Given the description of an element on the screen output the (x, y) to click on. 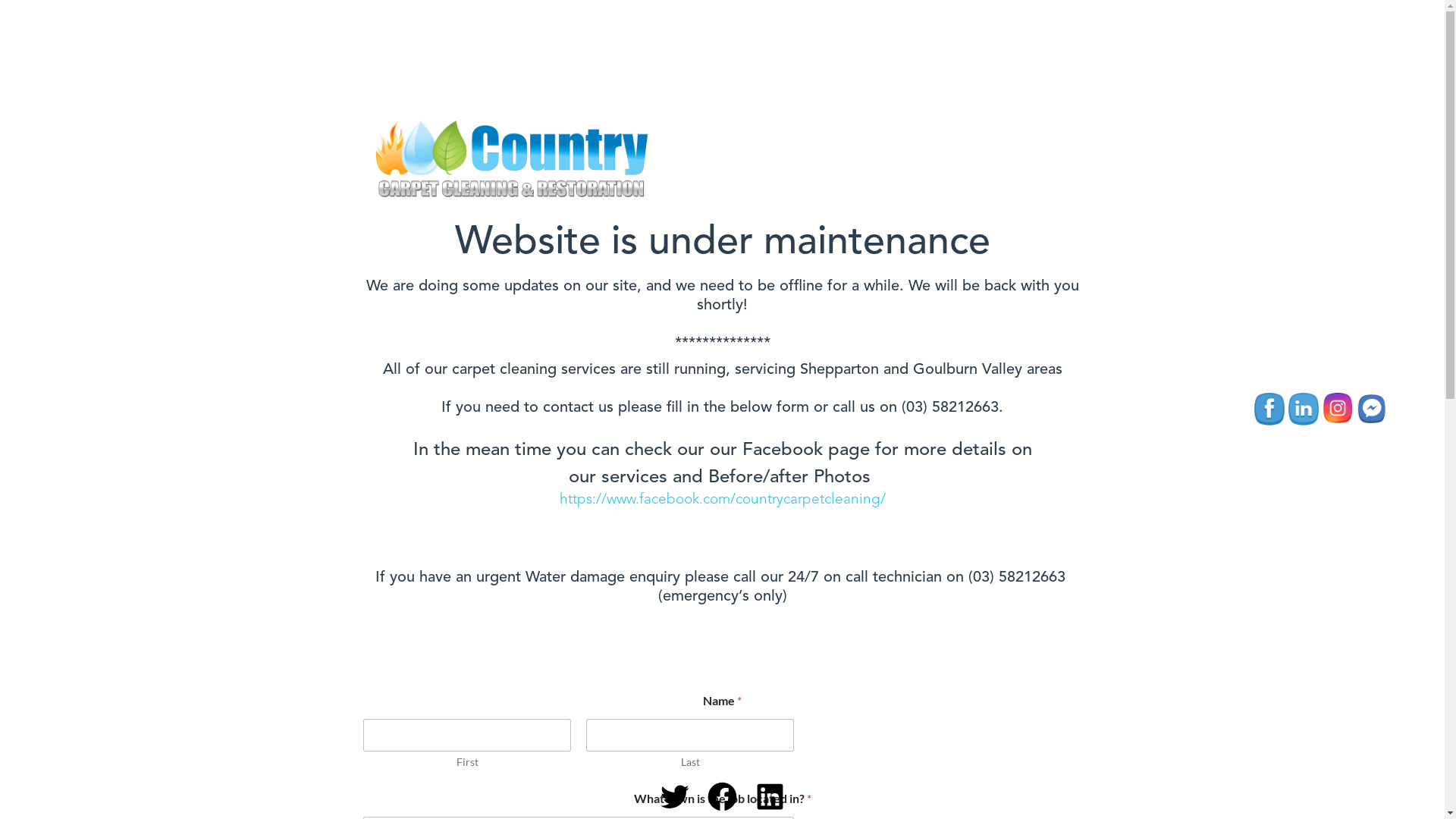
LinkedIn Element type: hover (1303, 408)
Twitter Element type: text (674, 796)
https://www.facebook.com/countrycarpetcleaning/ Element type: text (722, 499)
LinkedIn Element type: text (770, 796)
FbMessenger Element type: hover (1371, 407)
Facebook Element type: text (722, 796)
Facebook Element type: hover (1269, 408)
Instagram Element type: hover (1337, 407)
